Given the description of an element on the screen output the (x, y) to click on. 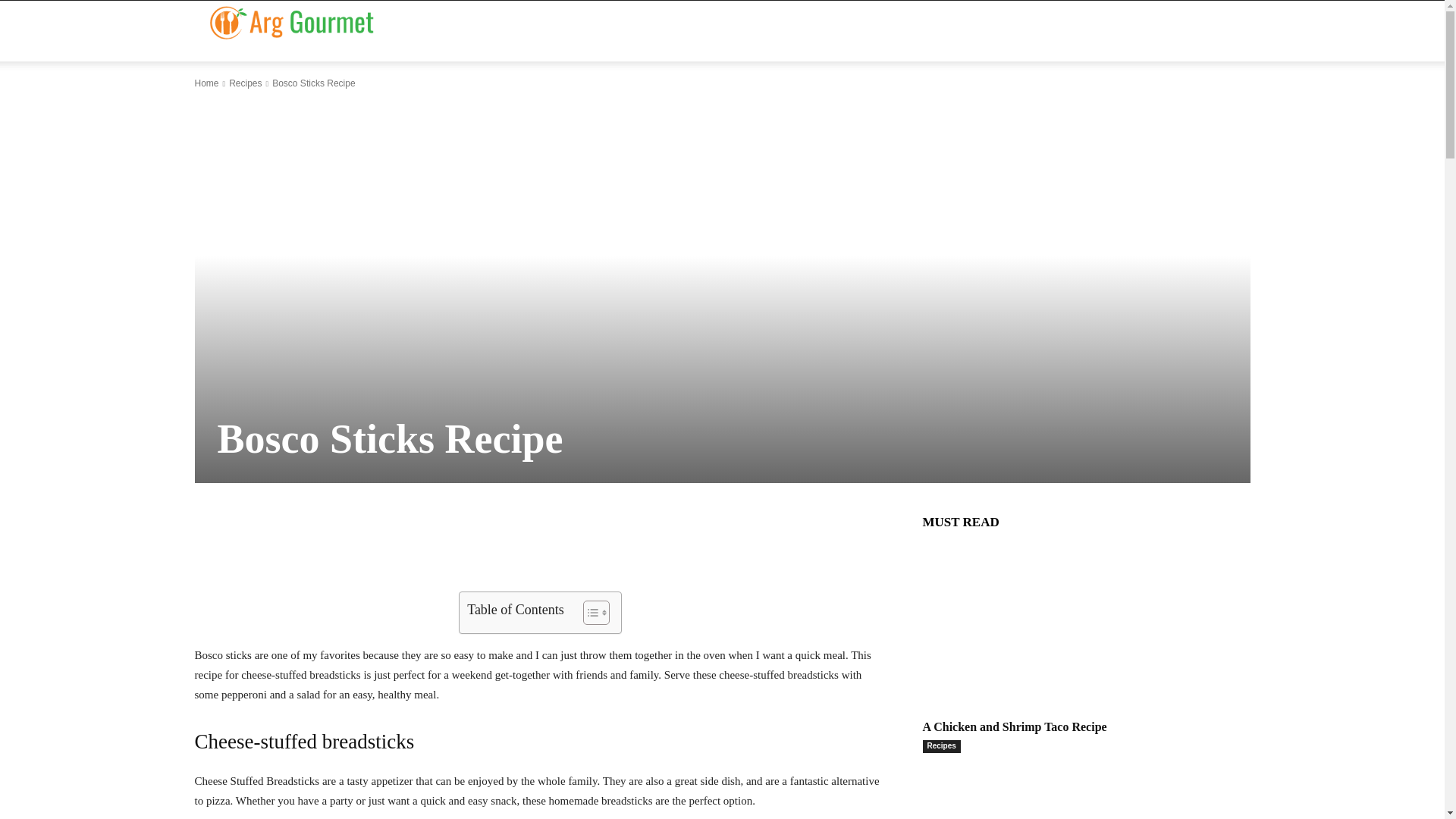
Home (205, 82)
Arg Gourmet (290, 21)
HOME (578, 30)
Recipes (245, 82)
SPOTLIGHT (851, 30)
RECIPES (763, 30)
Search (1210, 57)
View all posts in Recipes (245, 82)
